Given the description of an element on the screen output the (x, y) to click on. 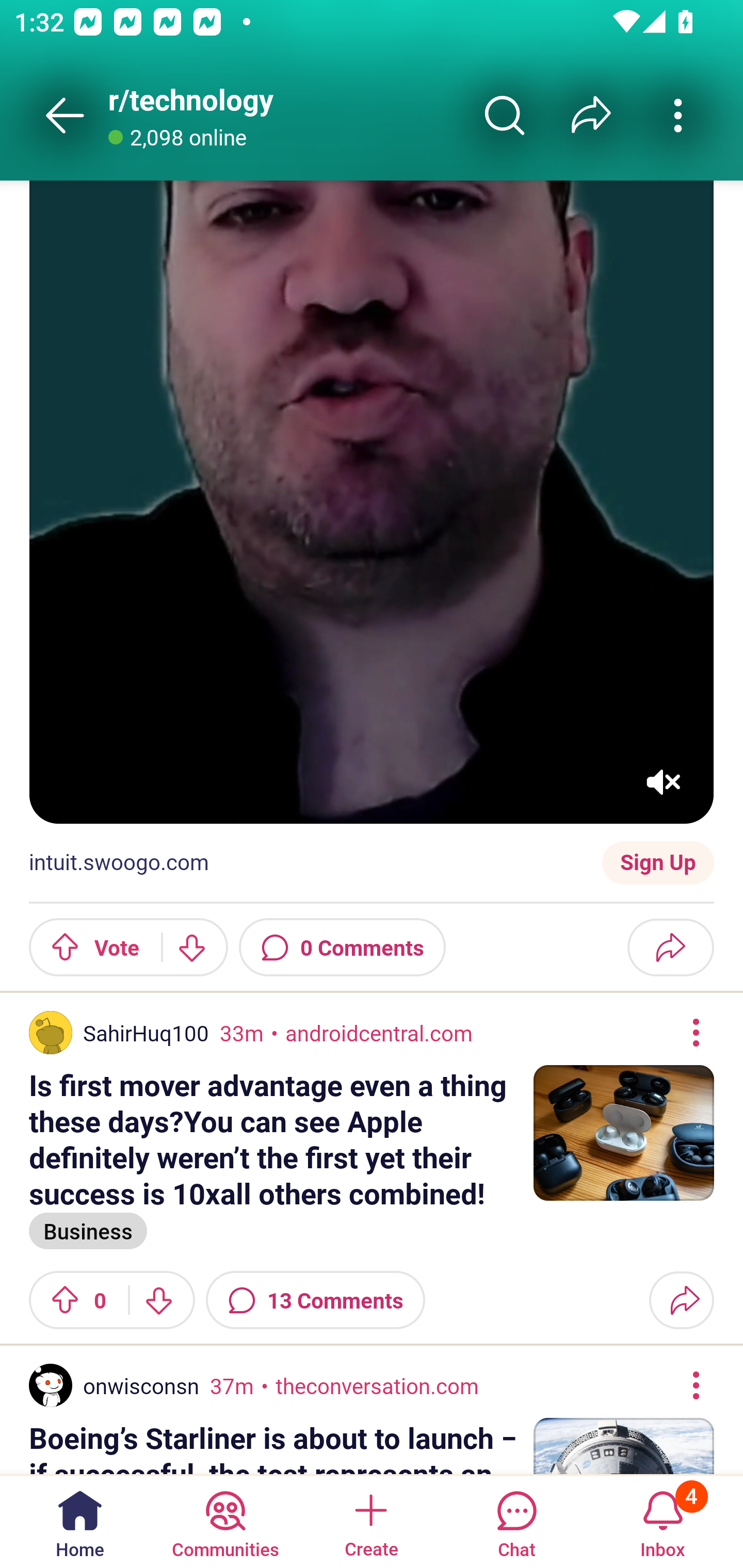
Back (64, 115)
Search r/﻿technology (504, 115)
Share r/﻿technology (591, 115)
More community actions (677, 115)
Business (87, 1229)
Home (80, 1520)
Communities (225, 1520)
Create a post Create (370, 1520)
Chat (516, 1520)
Inbox, has 4 notifications 4 Inbox (662, 1520)
